Given the description of an element on the screen output the (x, y) to click on. 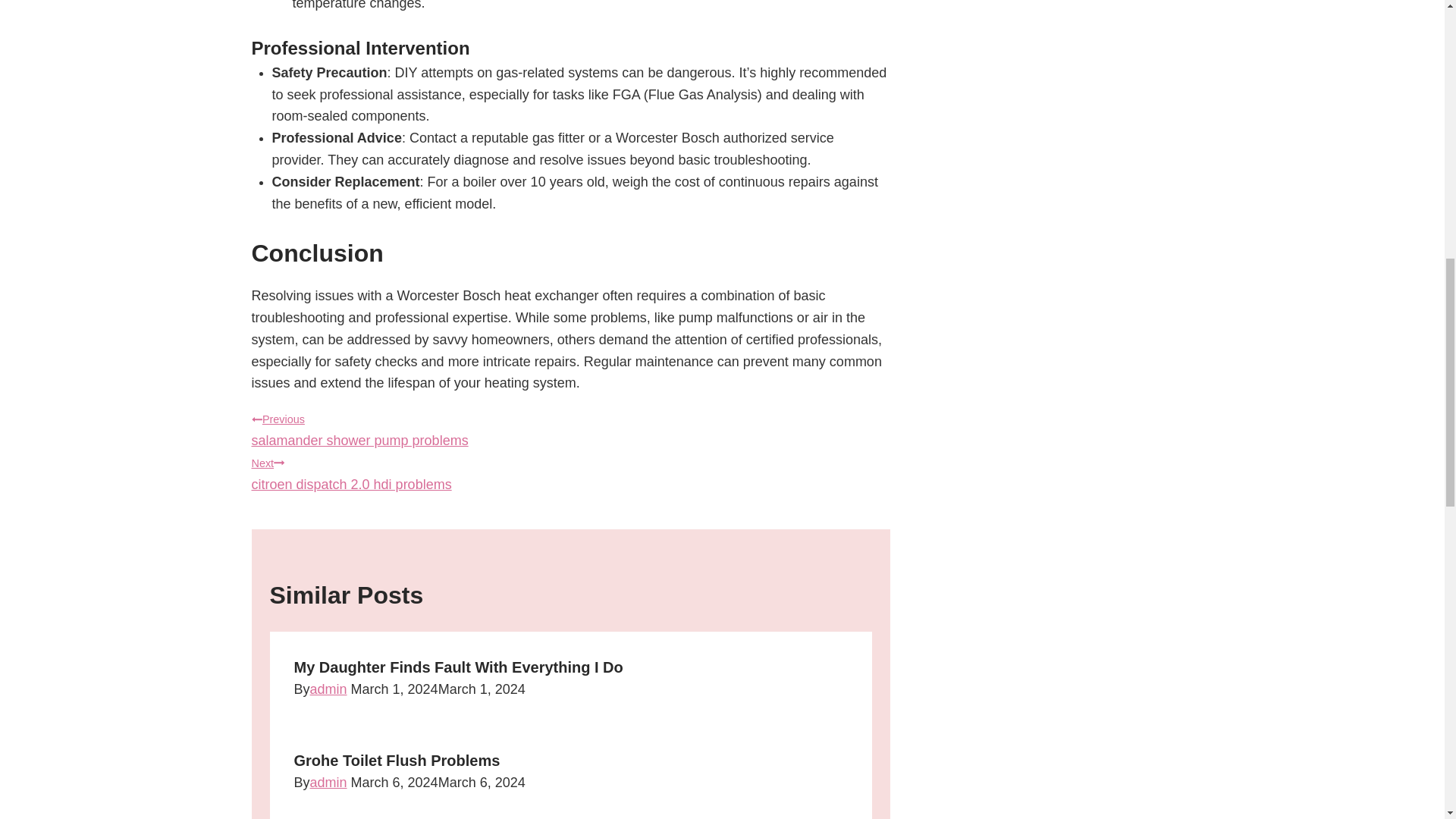
My Daughter Finds Fault With Everything I Do (458, 667)
admin (328, 782)
admin (570, 472)
Grohe Toilet Flush Problems (328, 688)
